Given the description of an element on the screen output the (x, y) to click on. 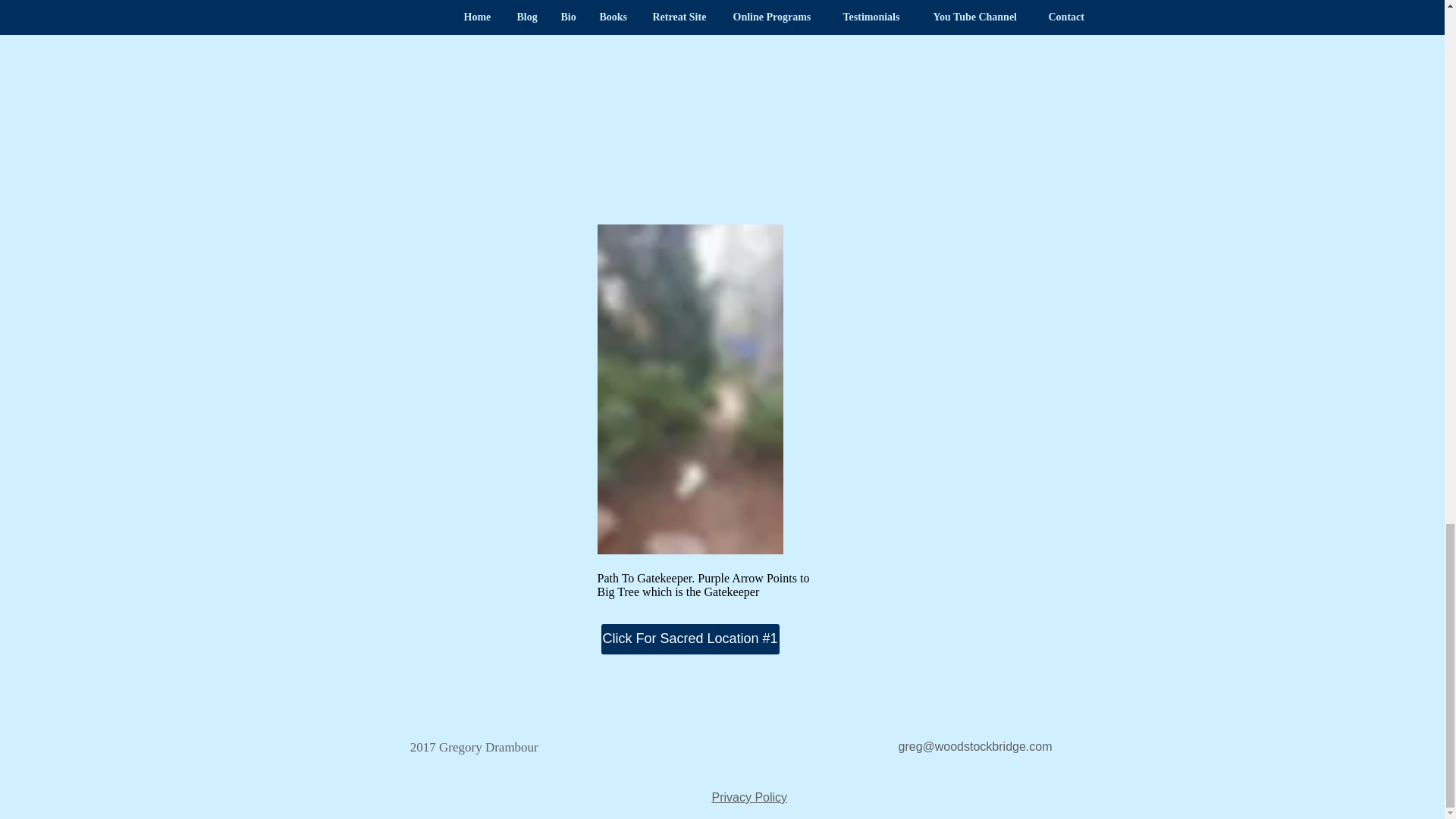
Privacy Policy (749, 797)
